Given the description of an element on the screen output the (x, y) to click on. 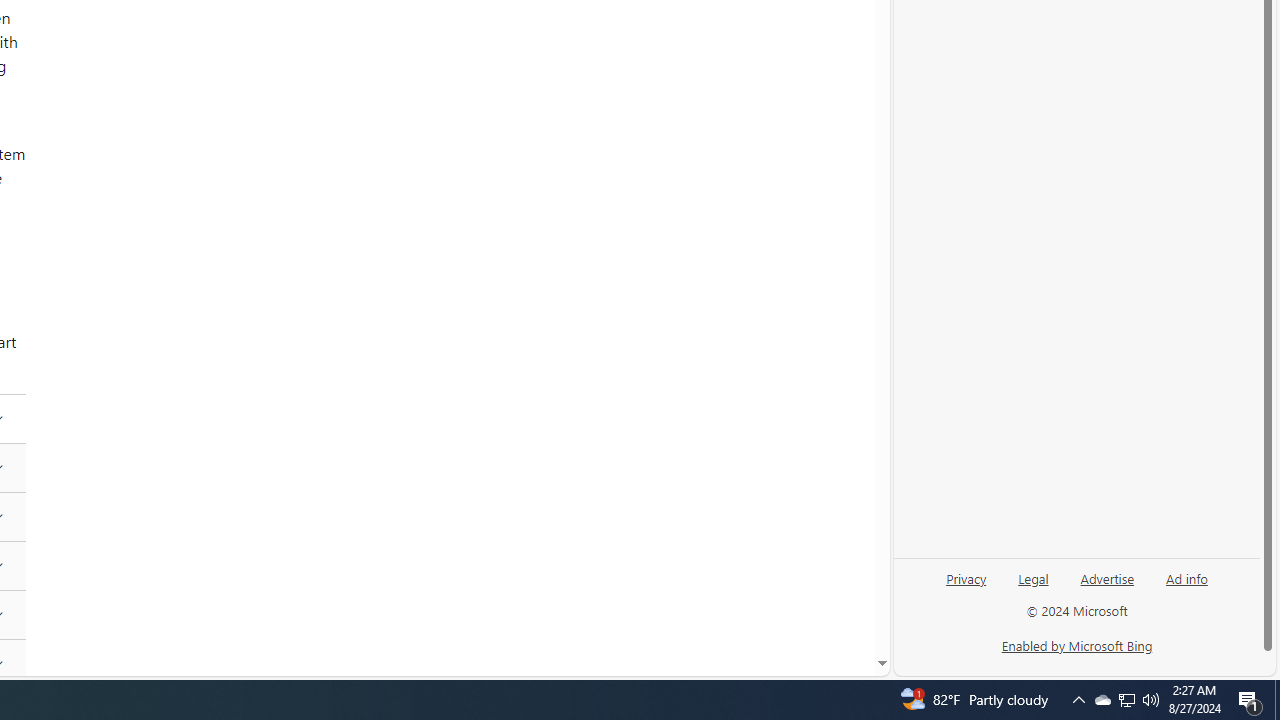
Ad info (1186, 586)
Ad info (1187, 577)
Legal (1033, 577)
Legal (1033, 586)
